Given the description of an element on the screen output the (x, y) to click on. 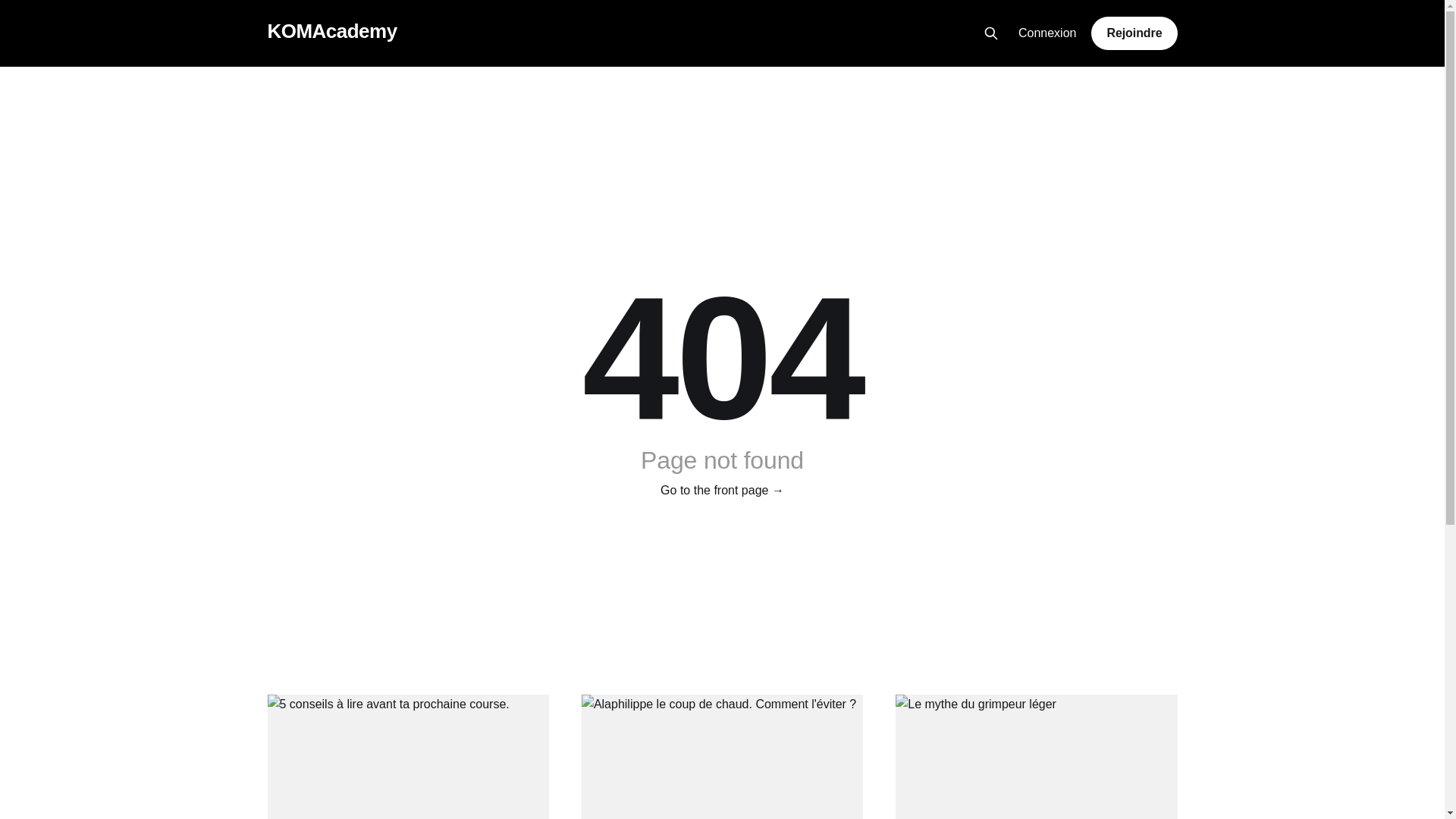
Connexion Element type: text (1047, 33)
Rejoindre Element type: text (1133, 33)
KOMAcademy Element type: text (331, 31)
